Given the description of an element on the screen output the (x, y) to click on. 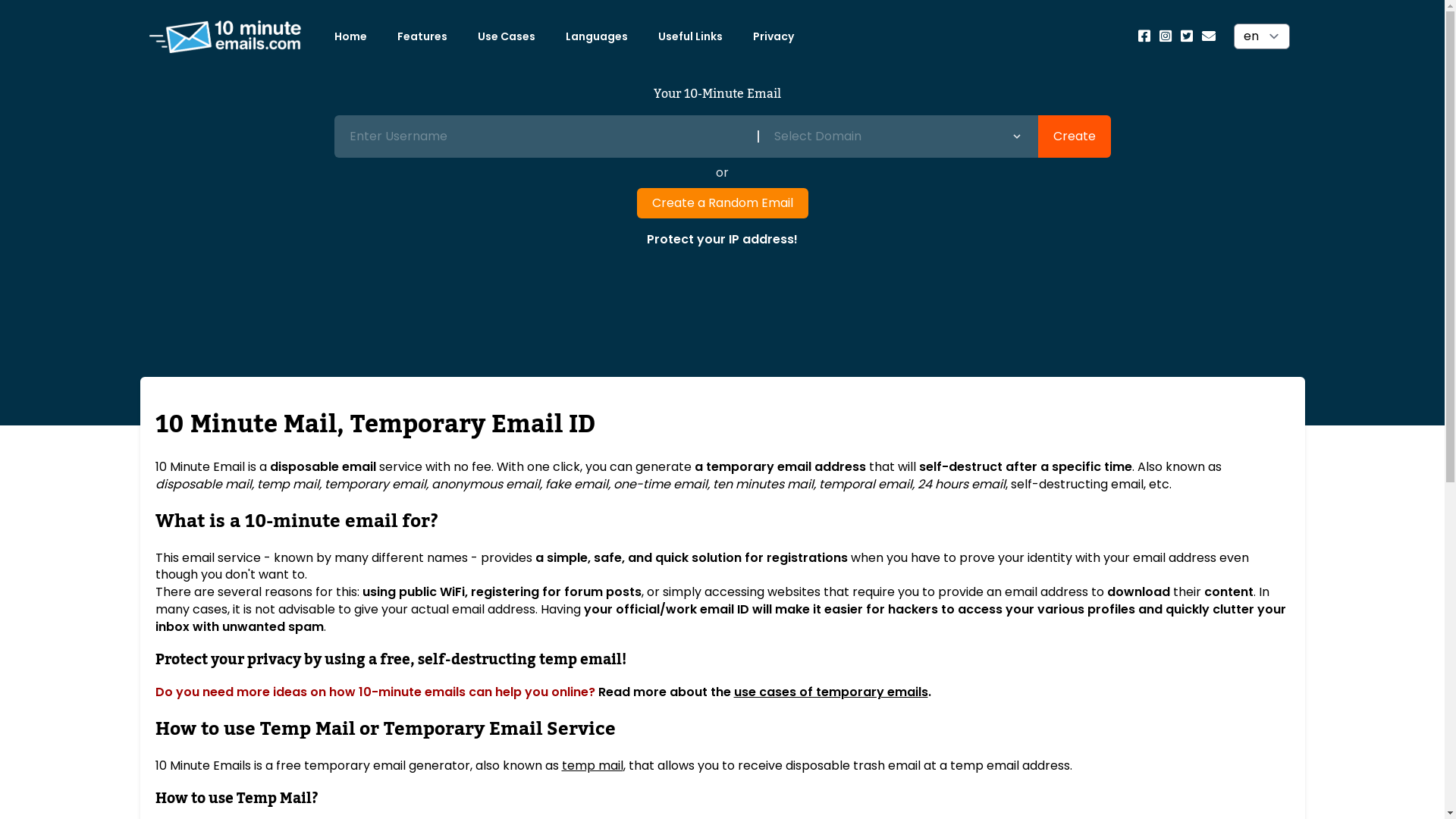
Languages Element type: text (596, 36)
Useful Links Element type: text (690, 36)
Privacy Element type: text (772, 36)
use cases of temporary emails Element type: text (831, 691)
Use Cases Element type: text (506, 36)
temp mail Element type: text (591, 765)
Features Element type: text (422, 36)
Create Element type: text (1073, 136)
Create a Random Email Element type: text (722, 203)
Home Element type: text (349, 36)
Advertisement Element type: hover (721, 300)
Protect your IP address! Element type: text (721, 238)
